Given the description of an element on the screen output the (x, y) to click on. 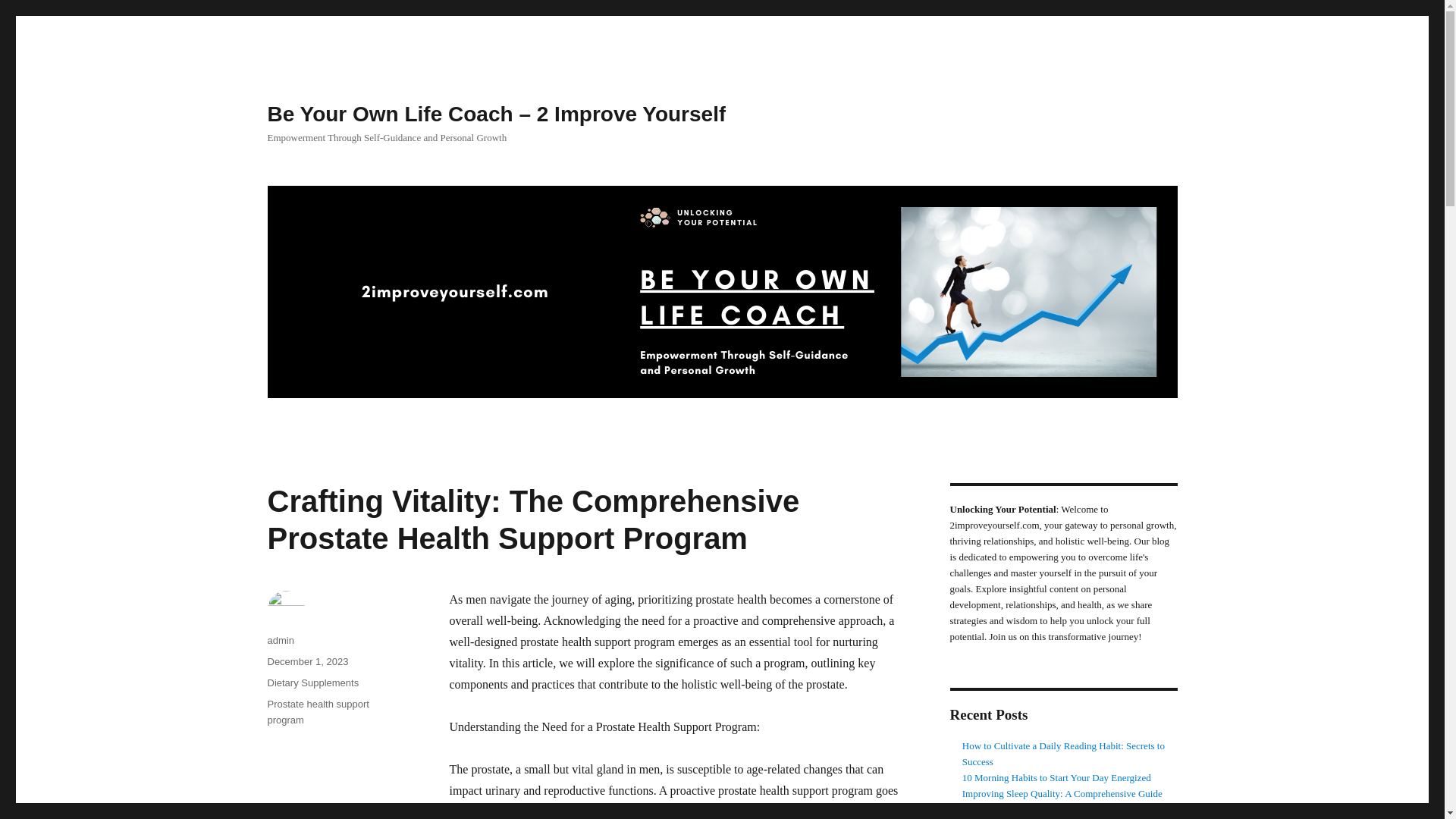
10 Morning Habits to Start Your Day Energized (1056, 777)
Dietary Supplements (312, 682)
December 1, 2023 (306, 661)
admin (280, 640)
Prostate health support program (317, 711)
How to Cultivate a Daily Reading Habit: Secrets to Success (1063, 753)
Improving Sleep Quality: A Comprehensive Guide (1061, 793)
